Given the description of an element on the screen output the (x, y) to click on. 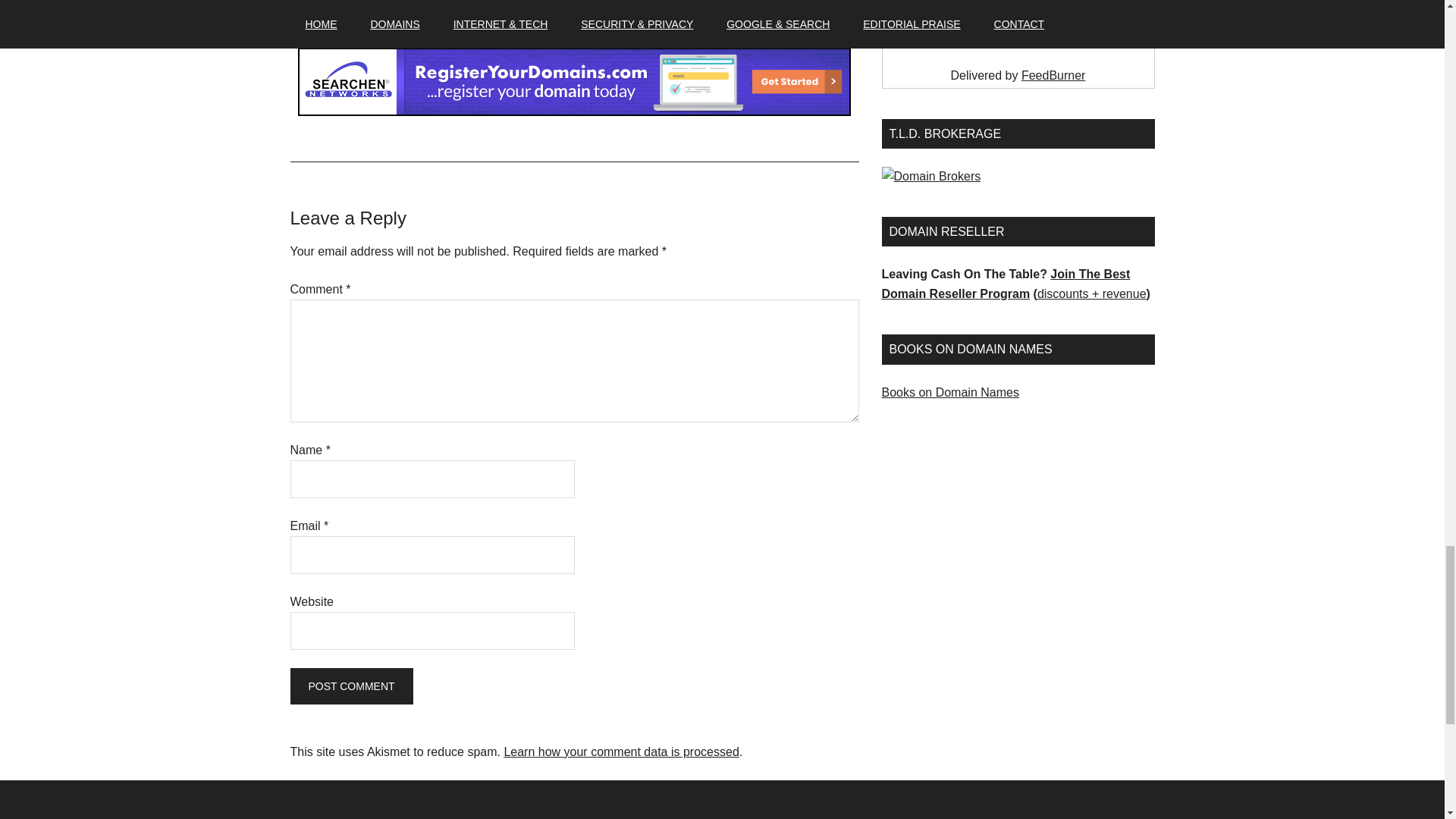
Subscribe (1018, 29)
Post Comment (350, 686)
